Given the description of an element on the screen output the (x, y) to click on. 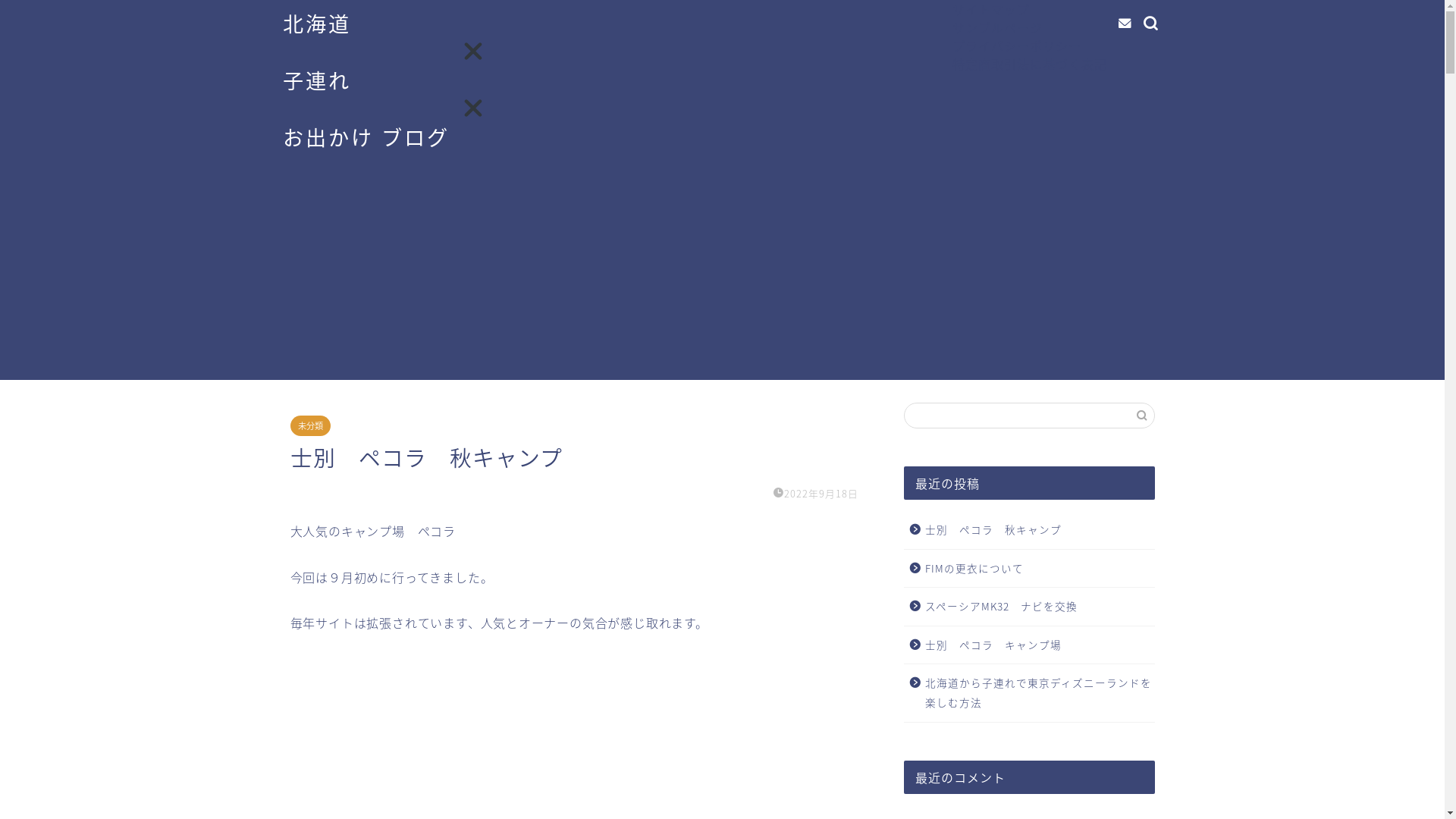
Advertisement Element type: hover (721, 273)
